Given the description of an element on the screen output the (x, y) to click on. 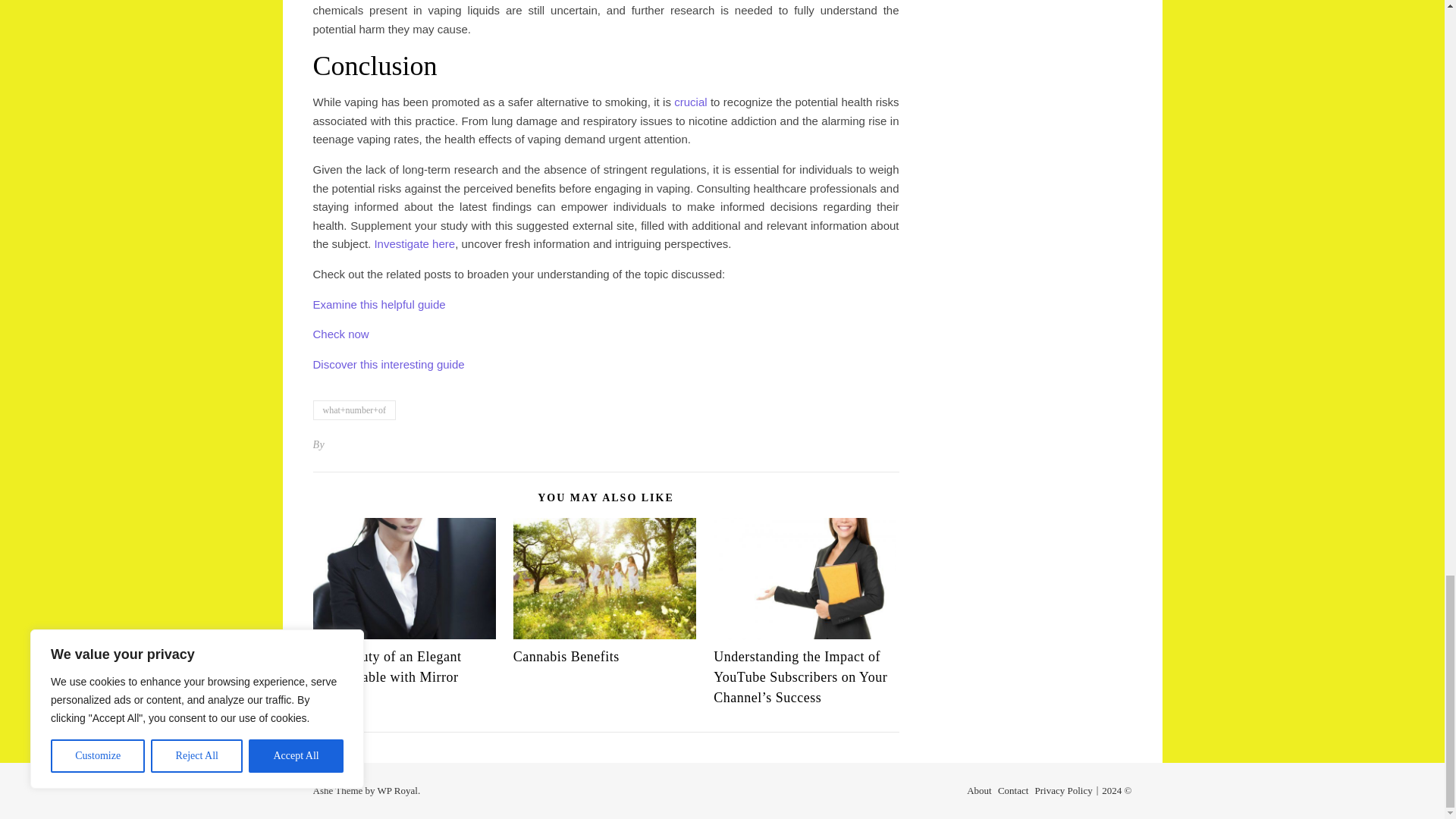
The Beauty of an Elegant Vanity Table with Mirror (387, 666)
Examine this helpful guide (379, 304)
Discover this interesting guide (388, 364)
crucial (690, 101)
Cannabis Benefits (566, 656)
Check now (340, 333)
Investigate here (414, 243)
